Given the description of an element on the screen output the (x, y) to click on. 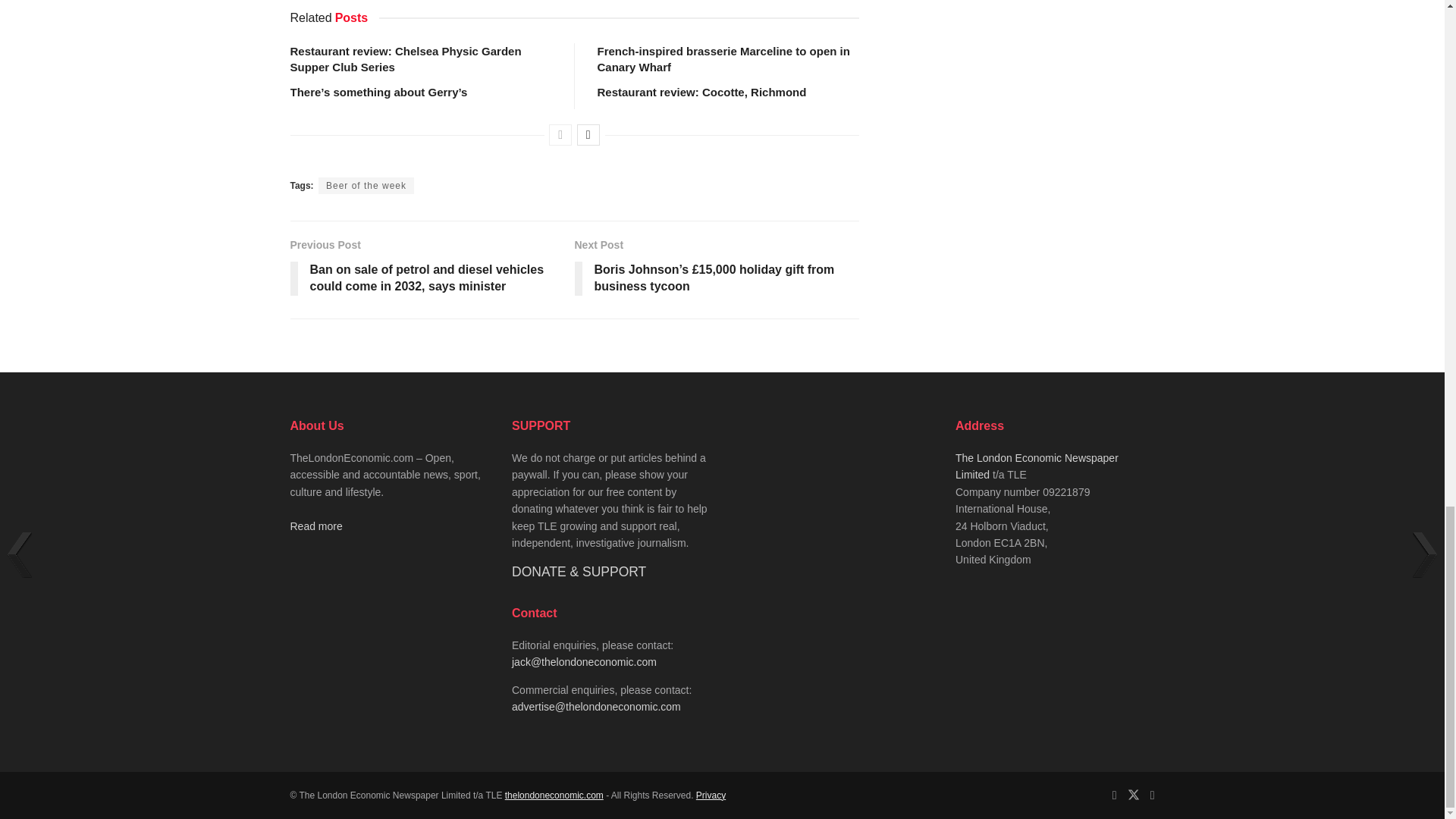
Next (587, 134)
Previous (560, 134)
The London Economic (554, 795)
Privacy (710, 795)
